Given the description of an element on the screen output the (x, y) to click on. 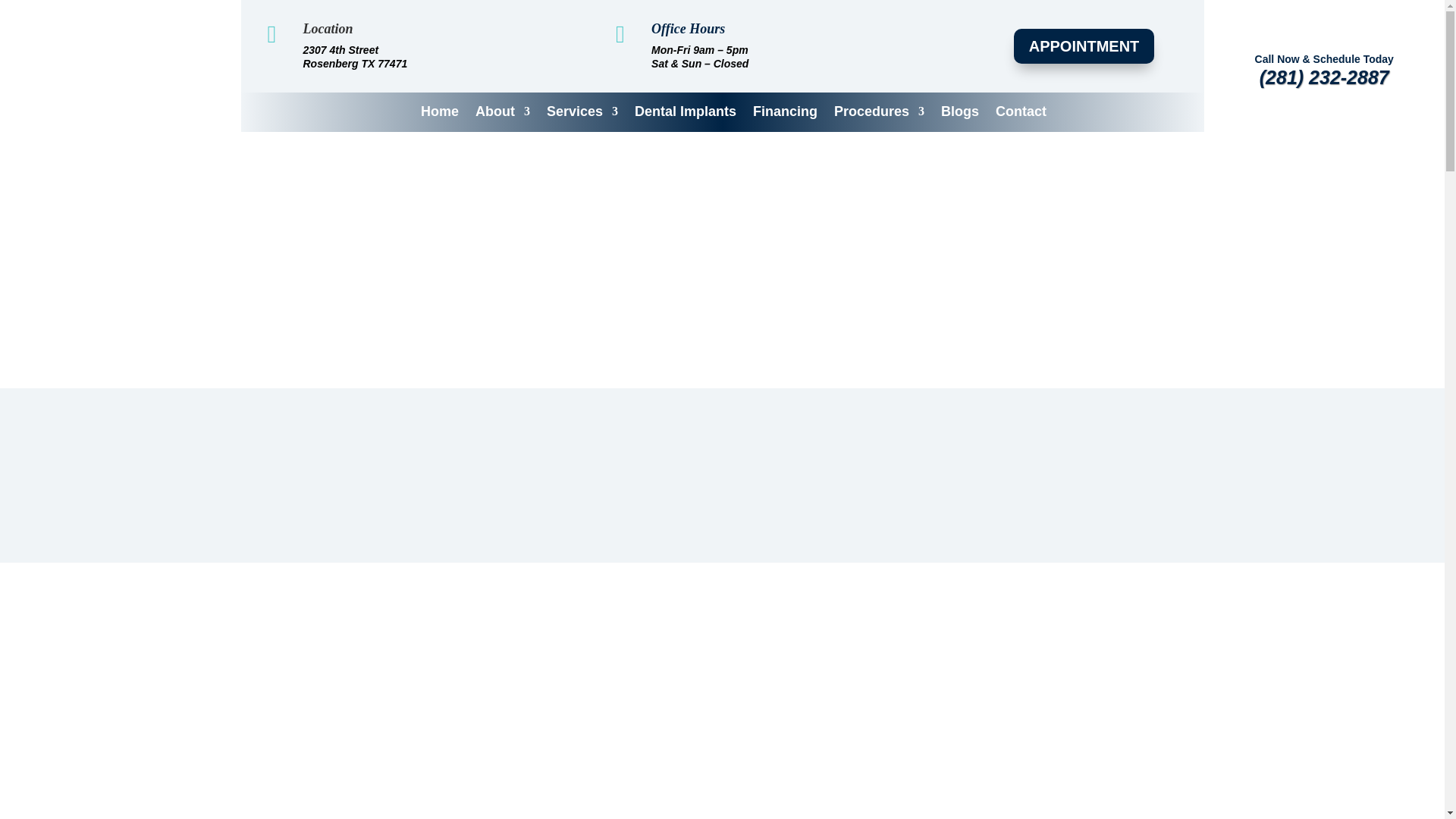
Blogs (959, 118)
Contact (1020, 118)
Services (582, 118)
Logo (119, 65)
Dental Implants (685, 118)
Home (439, 118)
Financing (784, 118)
APPOINTMENT (1083, 45)
Procedures (879, 118)
About (502, 118)
